Given the description of an element on the screen output the (x, y) to click on. 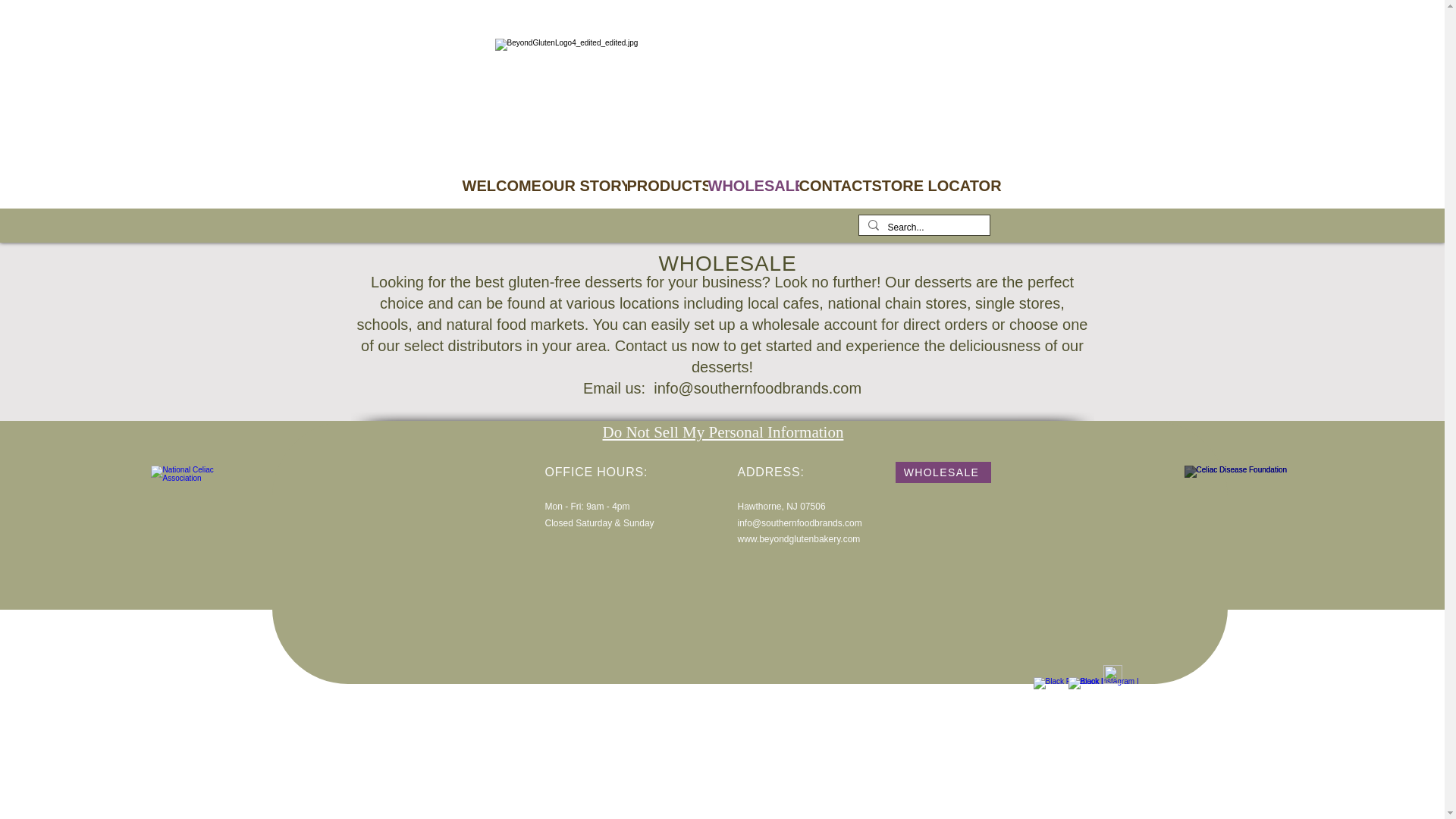
cdf-logo-white.png (1261, 484)
WELCOME (500, 185)
CONTACT (833, 185)
WHOLESALE (750, 185)
STORE LOCATOR (927, 185)
national-celiac-association-nca-400.png (198, 495)
PRODUCTS (664, 185)
OUR STORY (581, 185)
www.beyondglutenbakery.com (798, 538)
Do Not Sell My Personal Information (722, 432)
